Given the description of an element on the screen output the (x, y) to click on. 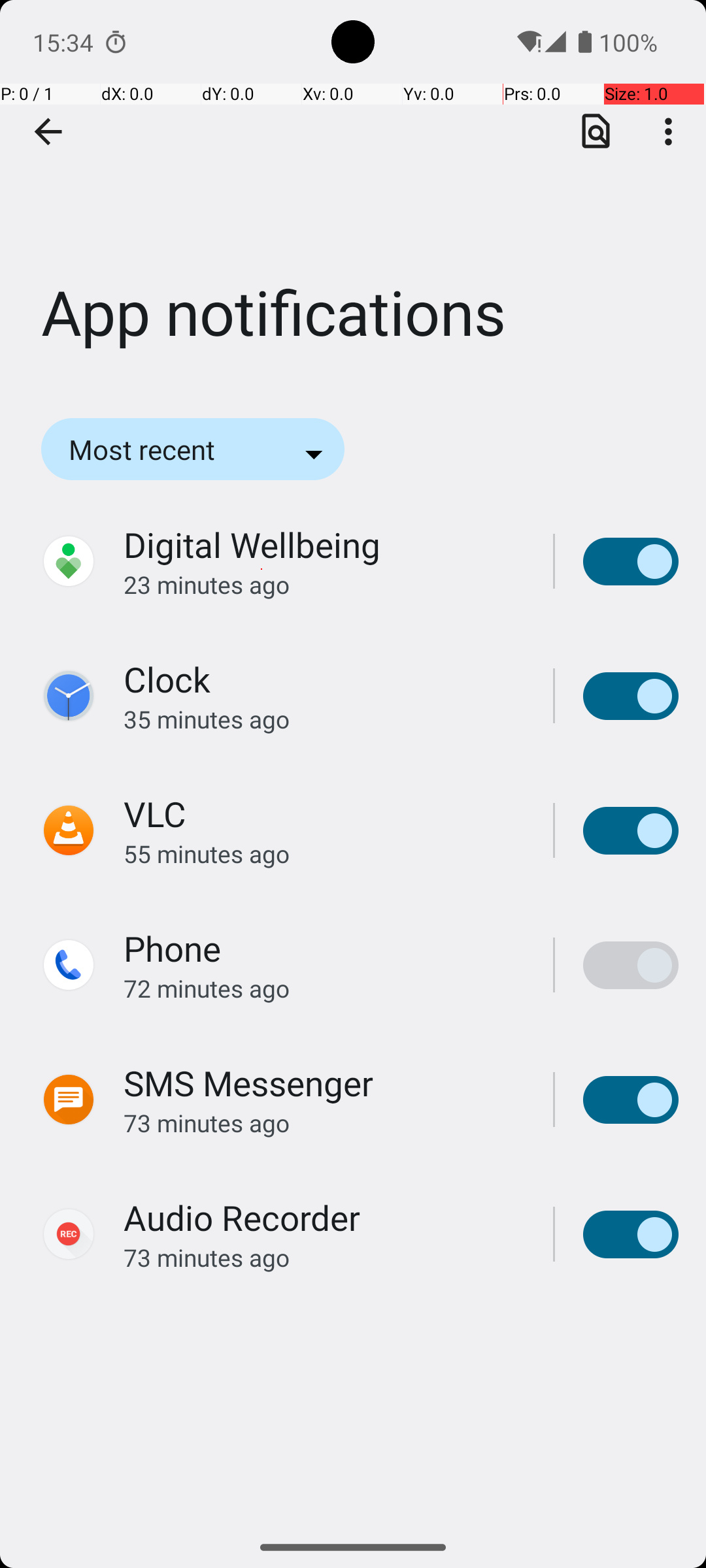
App notifications Element type: android.widget.FrameLayout (353, 195)
Most recent Element type: android.widget.TextView (159, 448)
Digital Wellbeing Element type: android.widget.TextView (252, 544)
23 minutes ago Element type: android.widget.TextView (324, 584)
35 minutes ago Element type: android.widget.TextView (324, 718)
55 minutes ago Element type: android.widget.TextView (324, 853)
72 minutes ago Element type: android.widget.TextView (324, 987)
73 minutes ago Element type: android.widget.TextView (324, 1122)
